Given the description of an element on the screen output the (x, y) to click on. 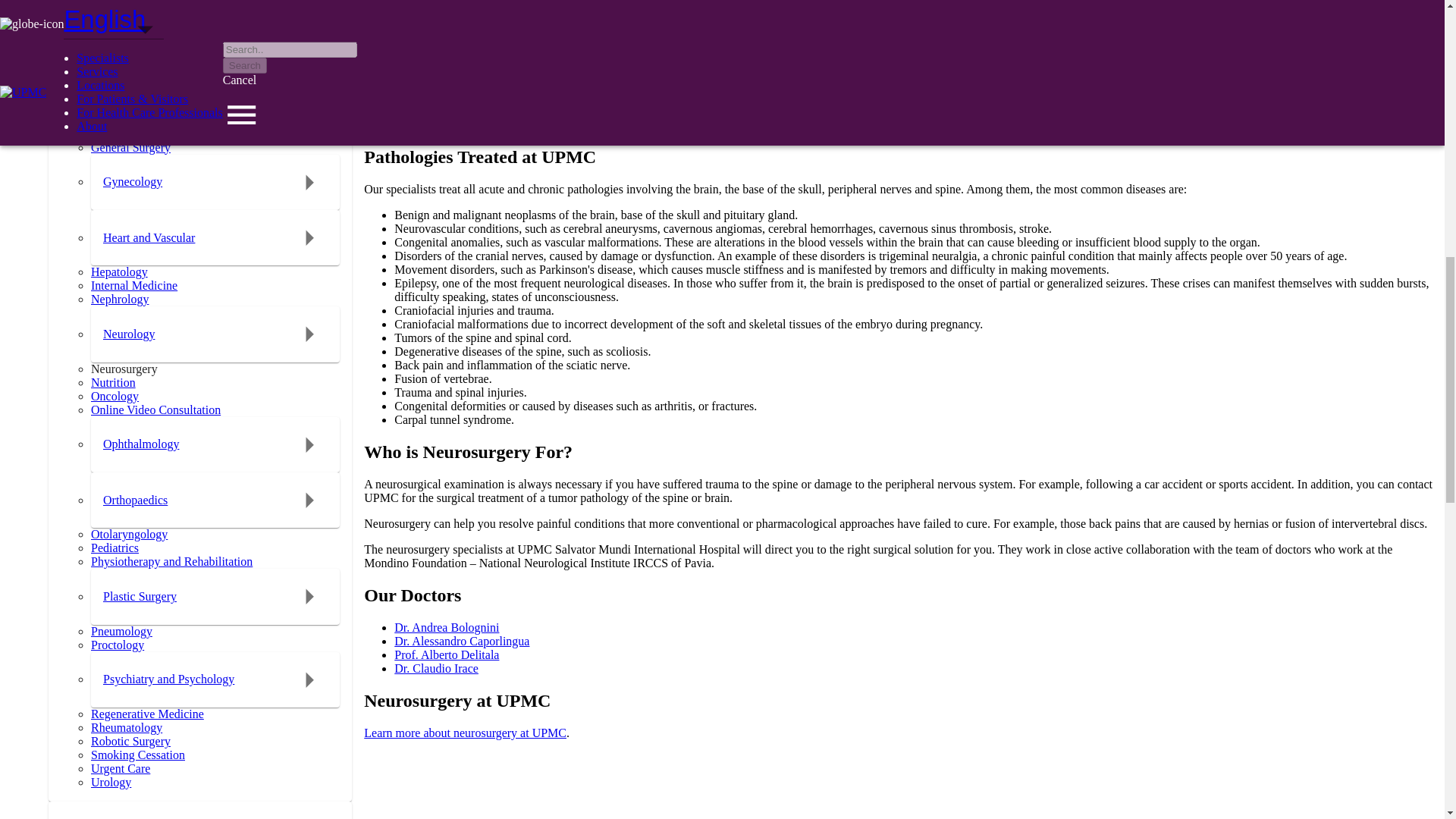
View Dr. Irace's profile. (436, 667)
Endocrinology (138, 42)
View Dr. Caporlingua's profile. (461, 640)
Learn more about neurosurgery at UPMC. (465, 732)
Gastroenterology (145, 98)
View Dr. Bolognini's profile. (446, 626)
View Prof. Delitala's profile. (446, 654)
